Given the description of an element on the screen output the (x, y) to click on. 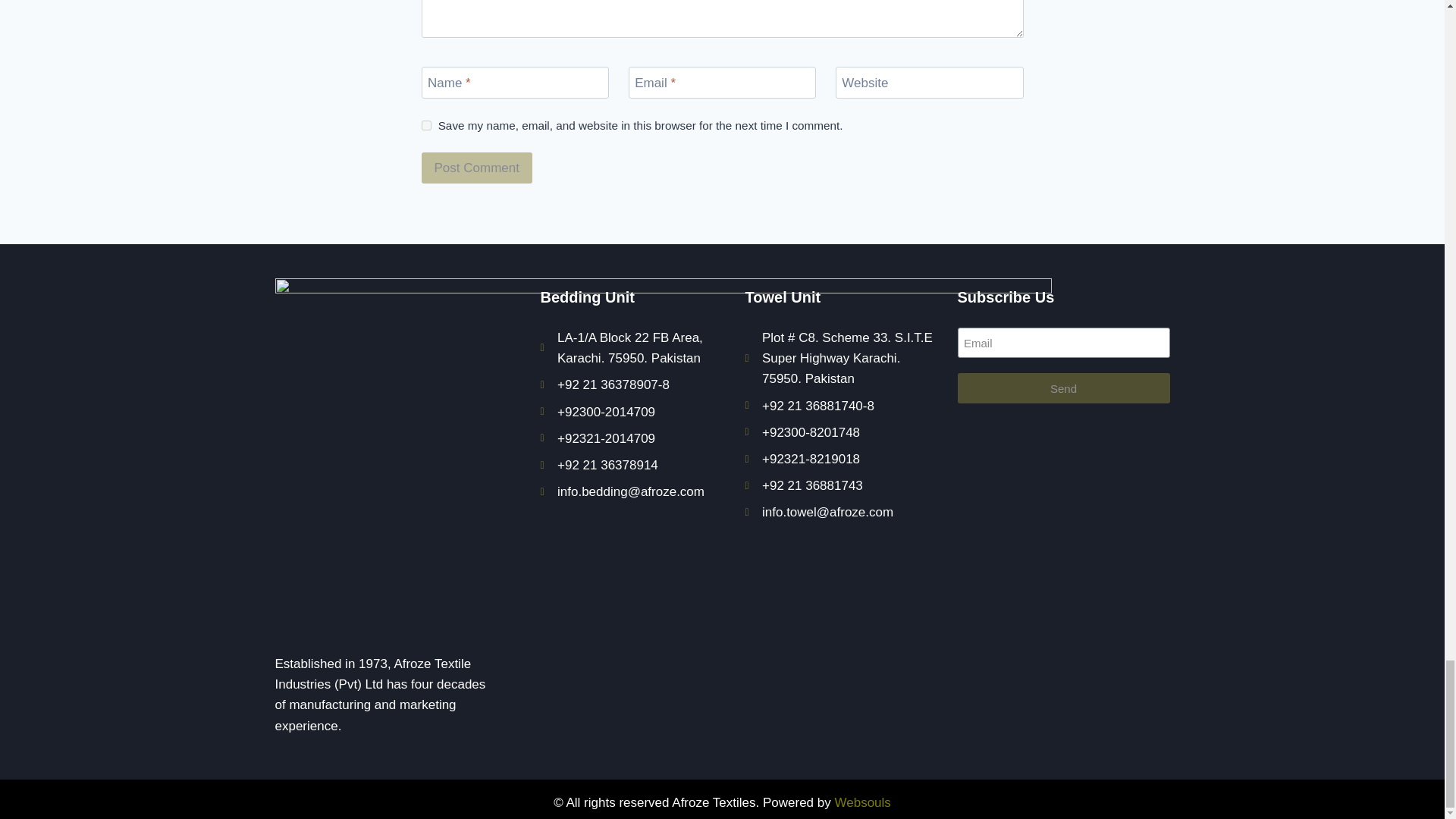
Post Comment (477, 167)
yes (426, 125)
